Given the description of an element on the screen output the (x, y) to click on. 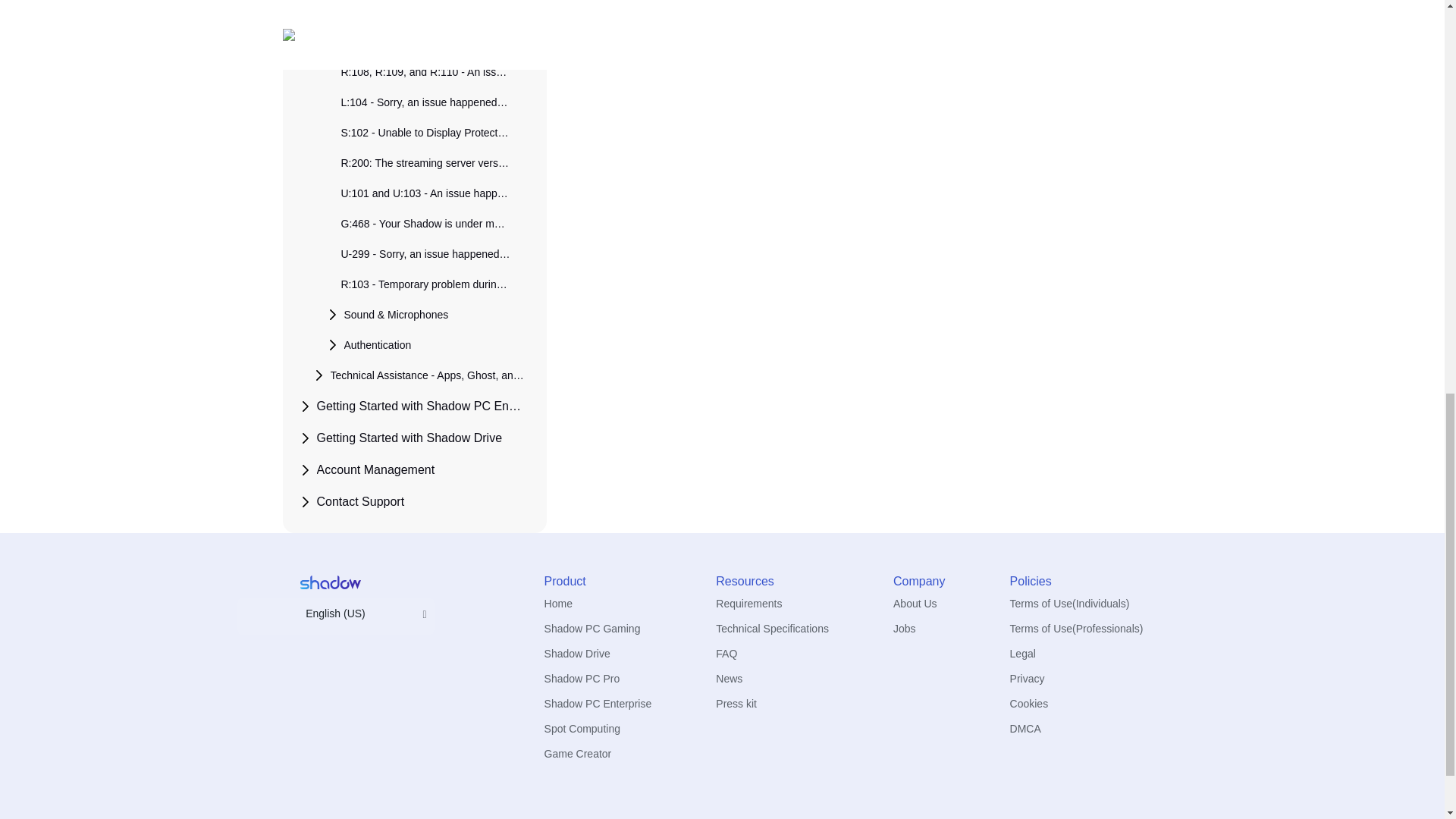
Shadow (592, 628)
News (729, 678)
Requirements (748, 603)
Spot Computing (582, 728)
Shadow PC Enterprise (598, 703)
Return to top (623, 60)
Privacy (1027, 678)
Game Creator (577, 753)
Home (558, 603)
FAQ (726, 653)
